Given the description of an element on the screen output the (x, y) to click on. 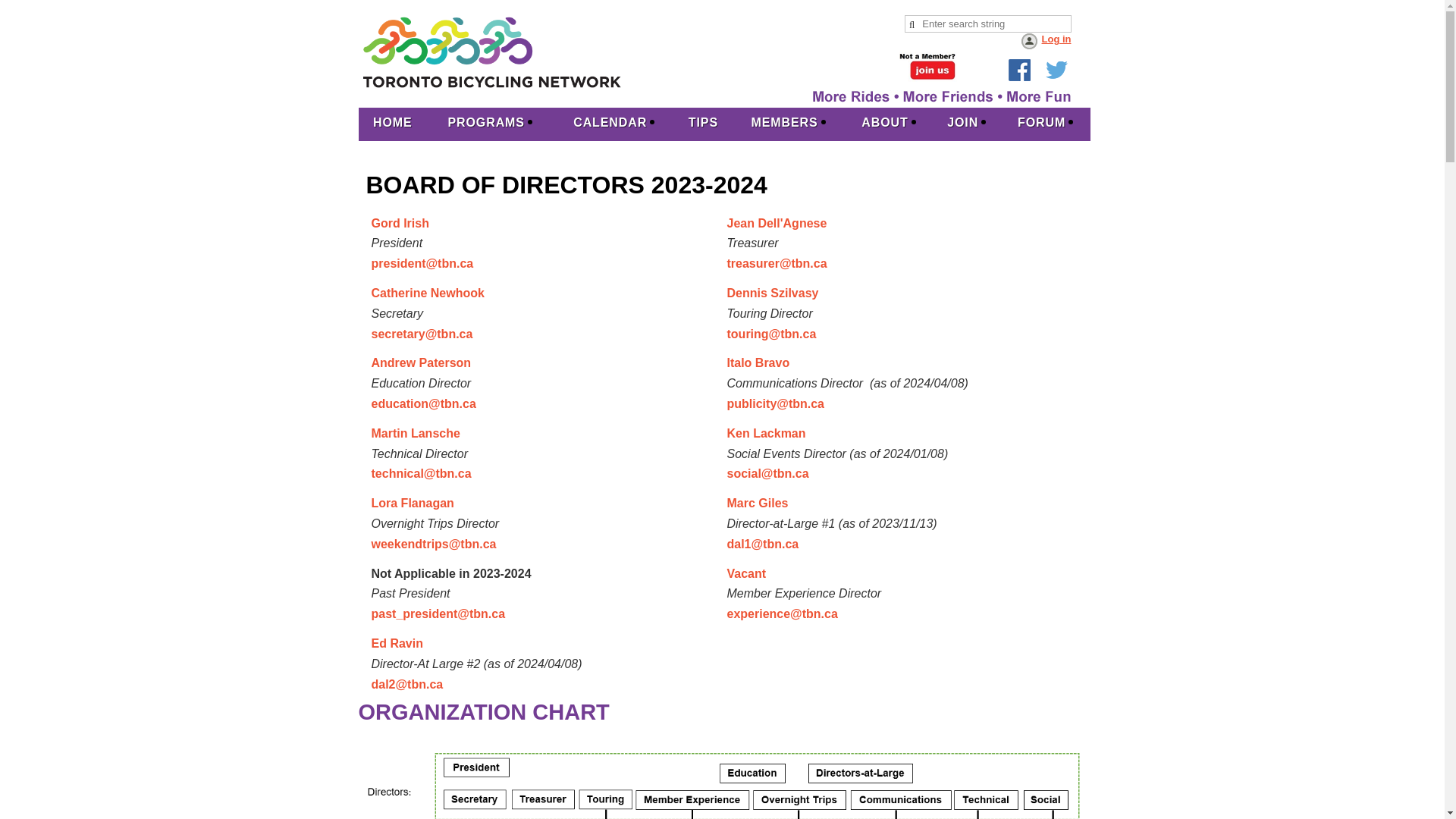
HOME (392, 123)
Home (392, 123)
PROGRAMS (489, 123)
Programs (489, 123)
Log in (1045, 42)
